Given the description of an element on the screen output the (x, y) to click on. 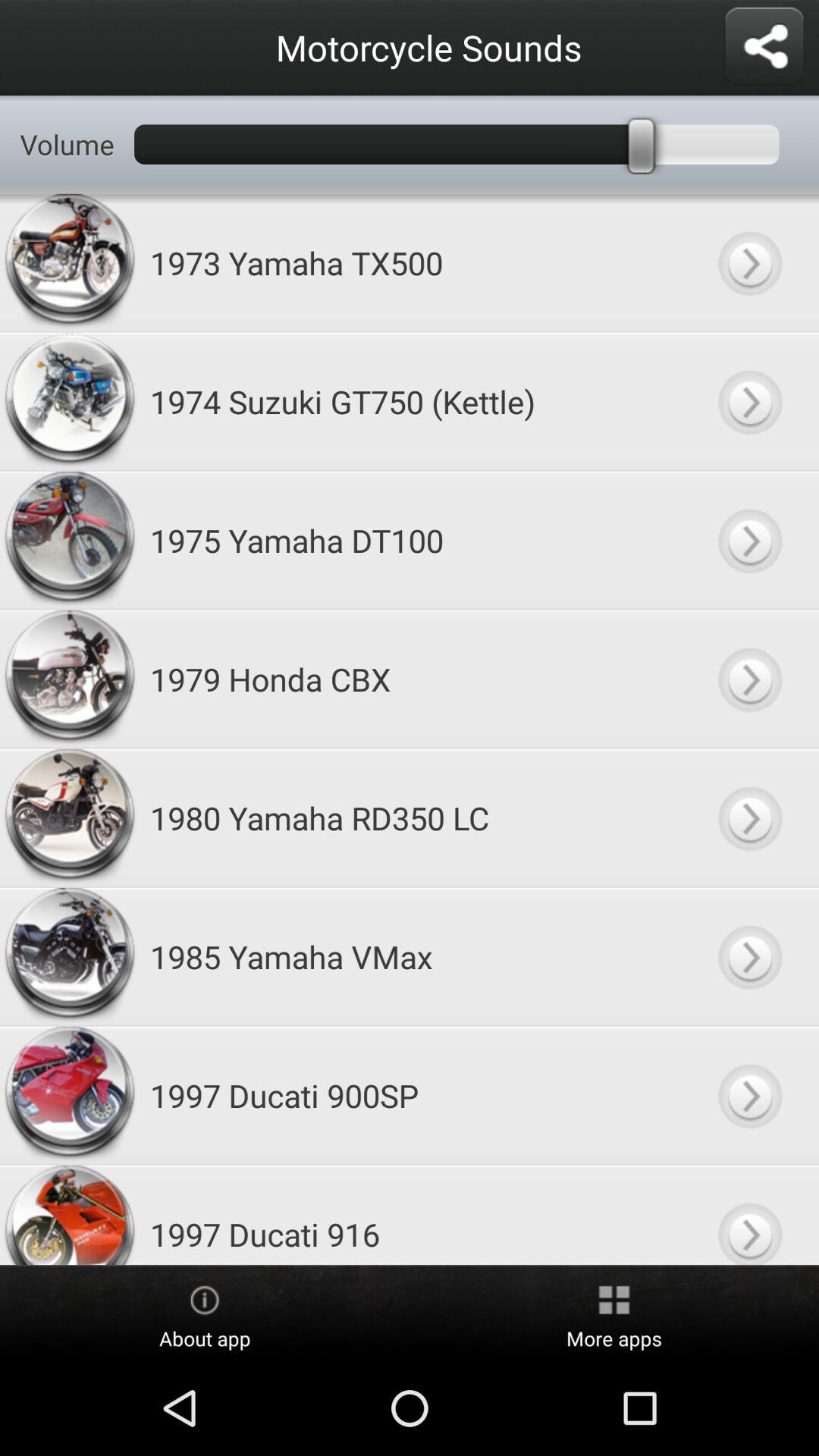
share (764, 47)
